Given the description of an element on the screen output the (x, y) to click on. 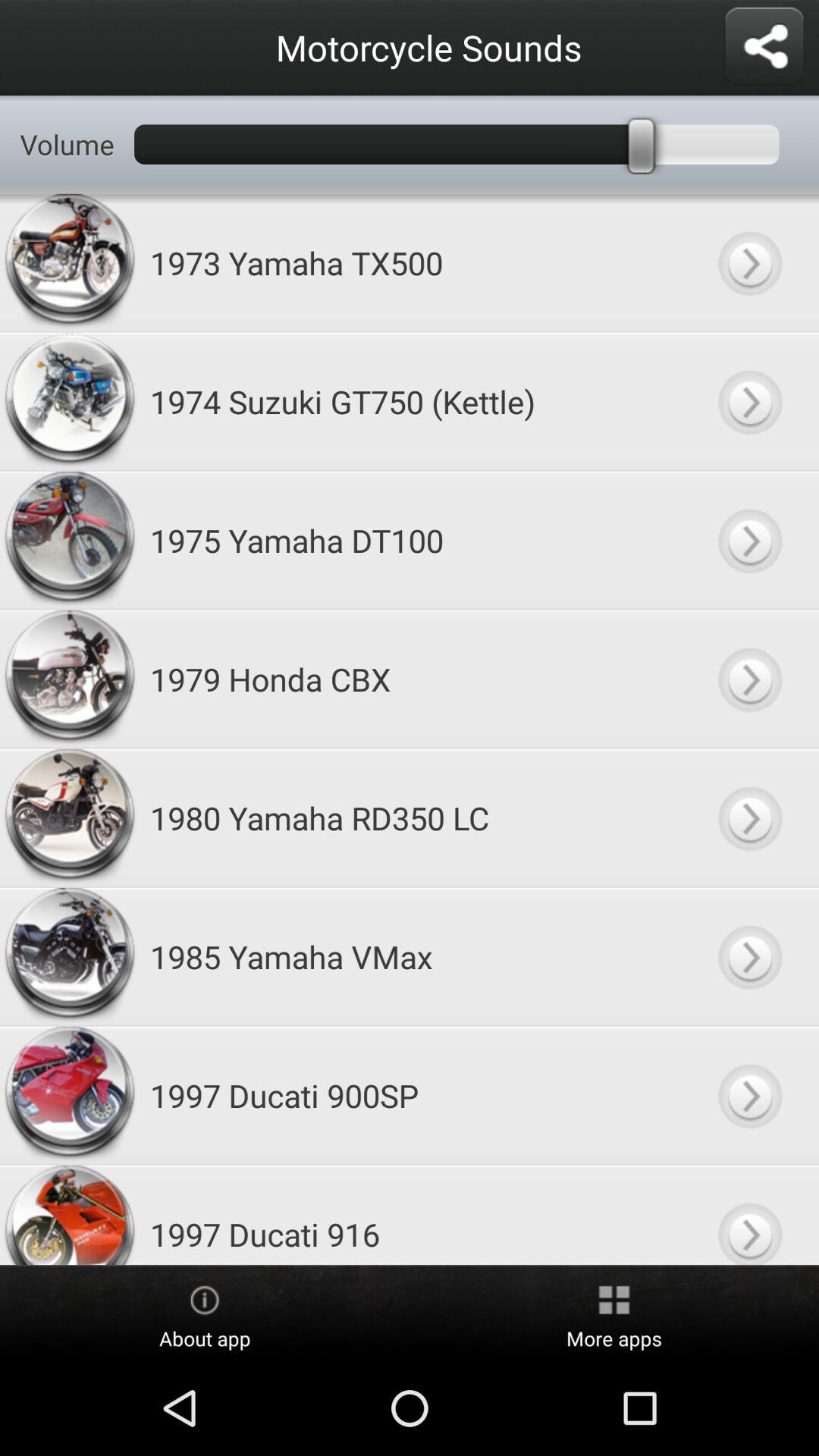
share (764, 47)
